Given the description of an element on the screen output the (x, y) to click on. 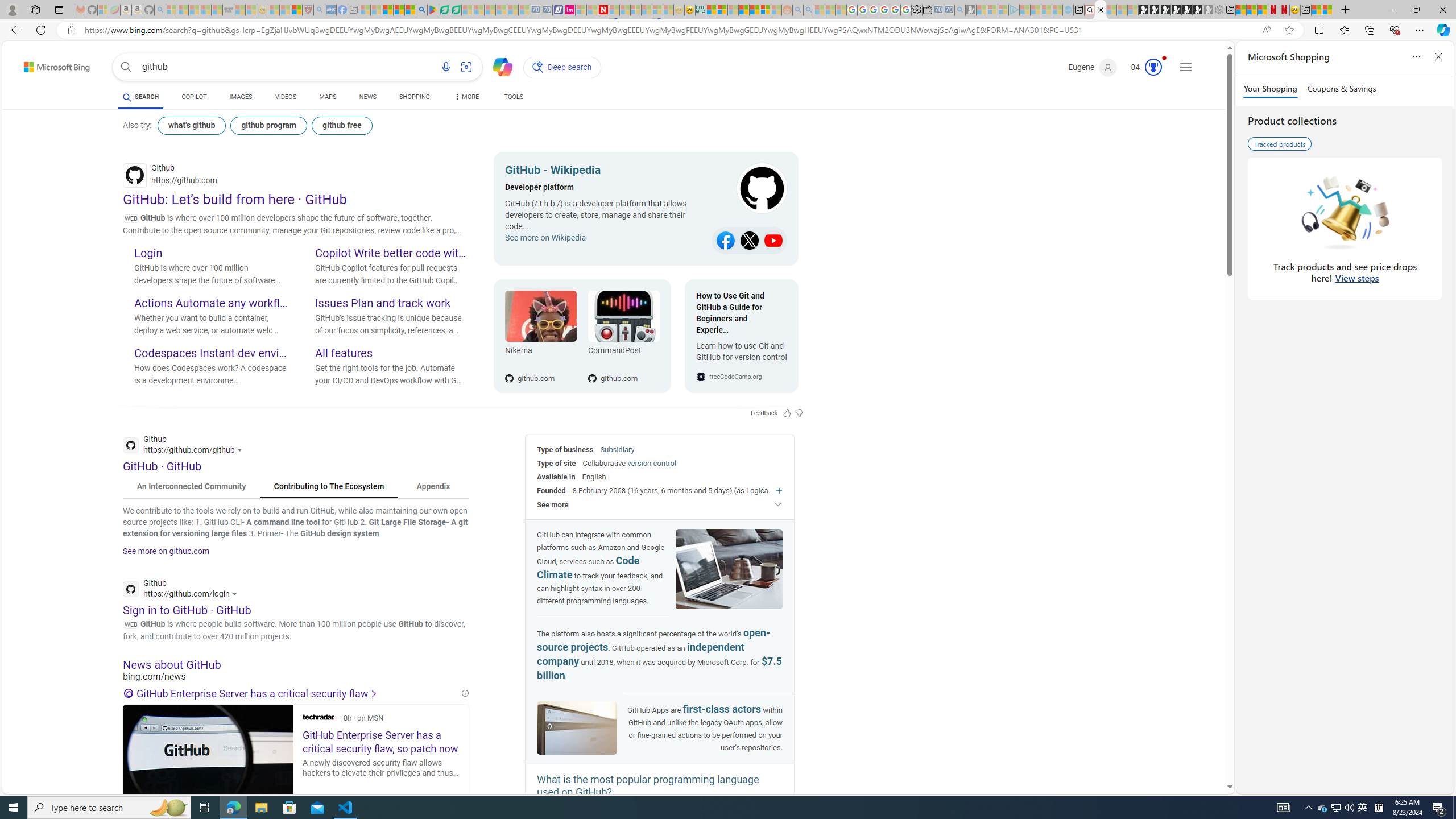
COPILOT (193, 96)
CommandPost (623, 352)
An Interconnected Community (191, 486)
NEWS (367, 98)
Eugene (1093, 67)
Animation (1163, 57)
